Given the description of an element on the screen output the (x, y) to click on. 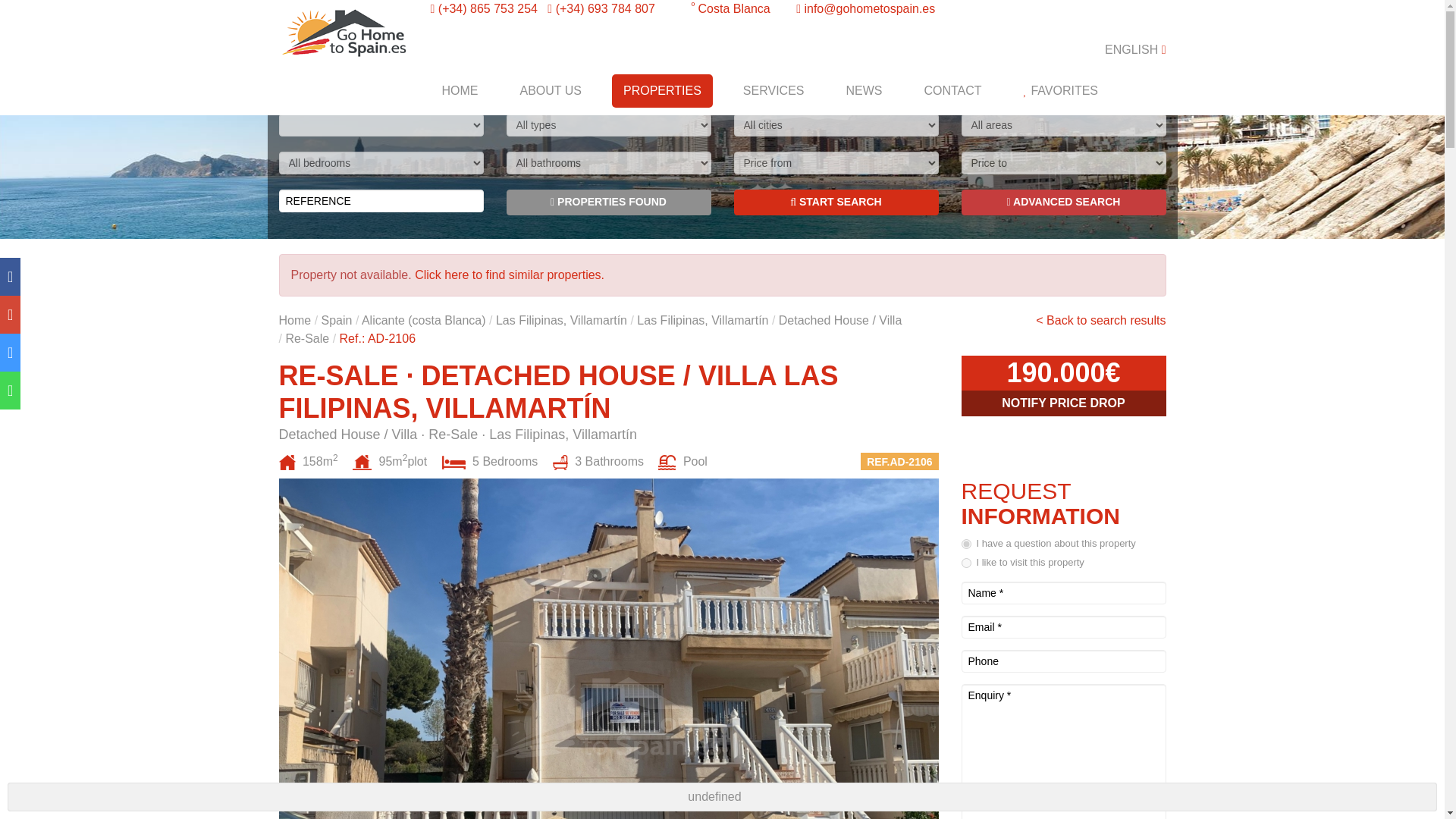
Spain (336, 319)
NOTIFY PRICE DROP (1063, 403)
CONTACT (952, 90)
I like to visit this property (965, 562)
FAVORITES (1060, 90)
I have a question about this property (965, 543)
Re-Sale (307, 338)
SERVICES (773, 90)
ABOUT US (550, 90)
Click here to find similar properties. (509, 274)
Home (295, 319)
ADVANCED SEARCH (1063, 202)
HOME (459, 90)
PROPERTIES (662, 90)
START SEARCH (836, 202)
